Given the description of an element on the screen output the (x, y) to click on. 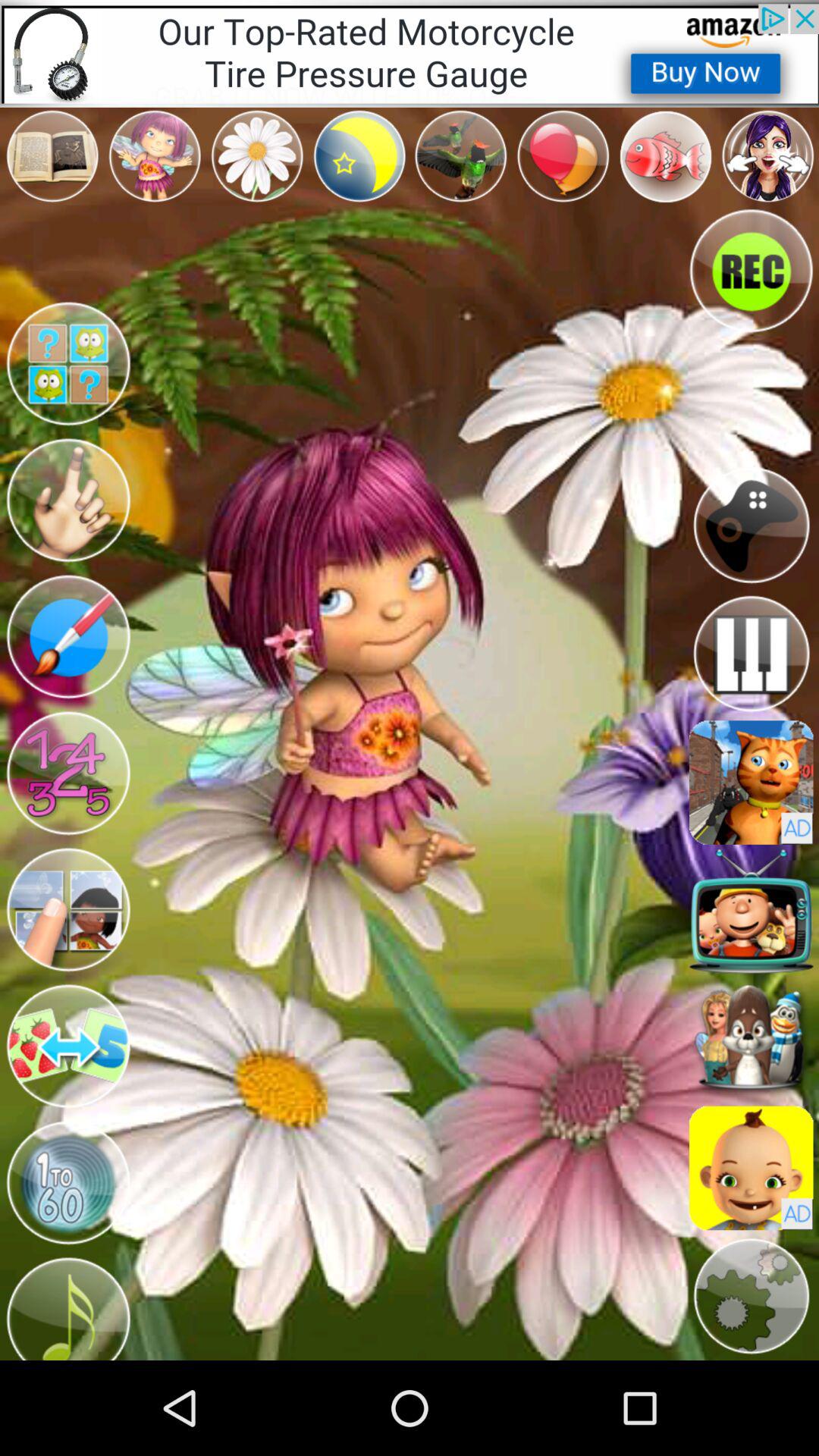
setup (751, 1296)
